Given the description of an element on the screen output the (x, y) to click on. 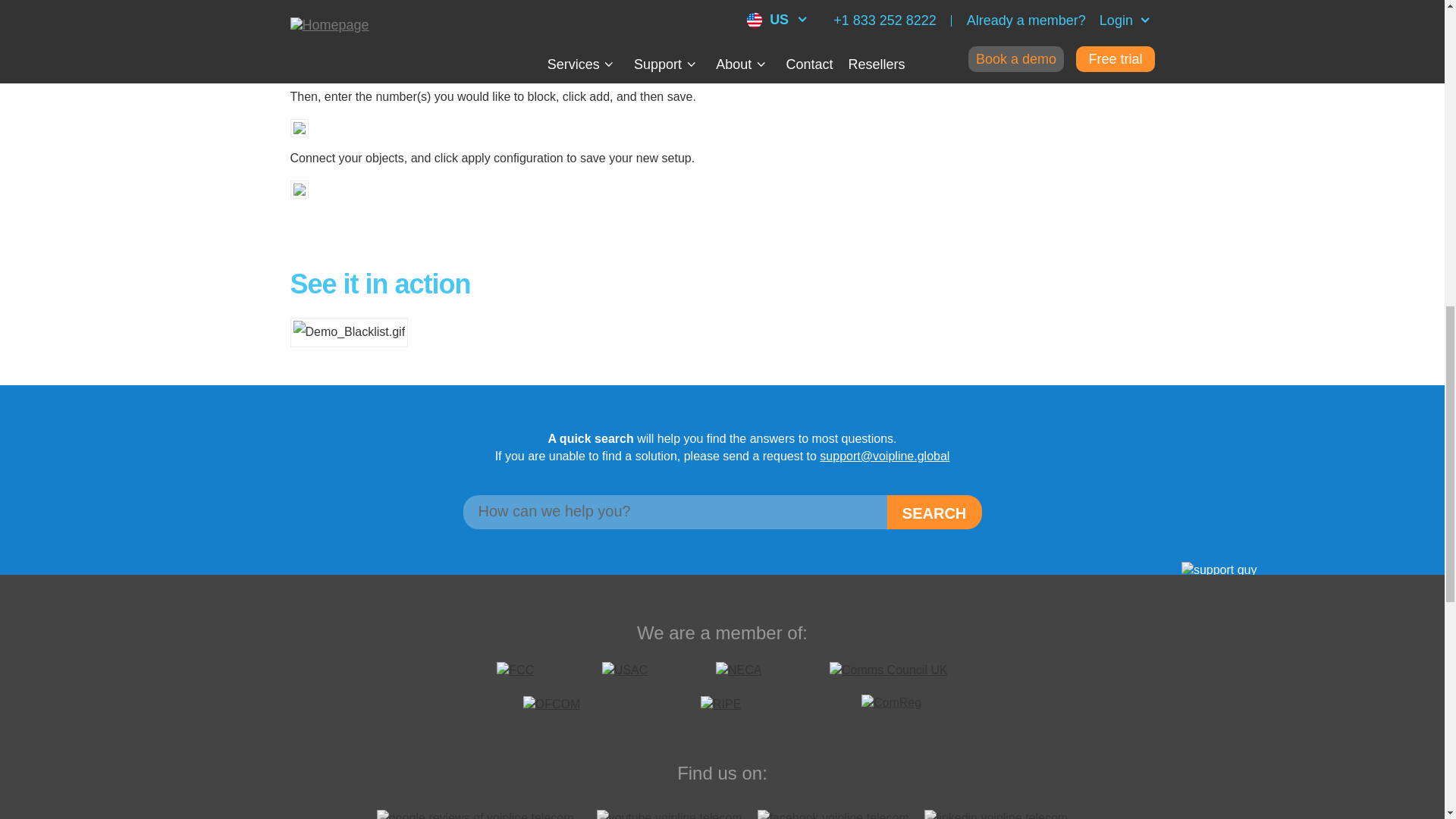
LinkedIn (996, 814)
Search (933, 512)
Facebook (833, 814)
Google reviews (479, 814)
YouTube (669, 814)
